Given the description of an element on the screen output the (x, y) to click on. 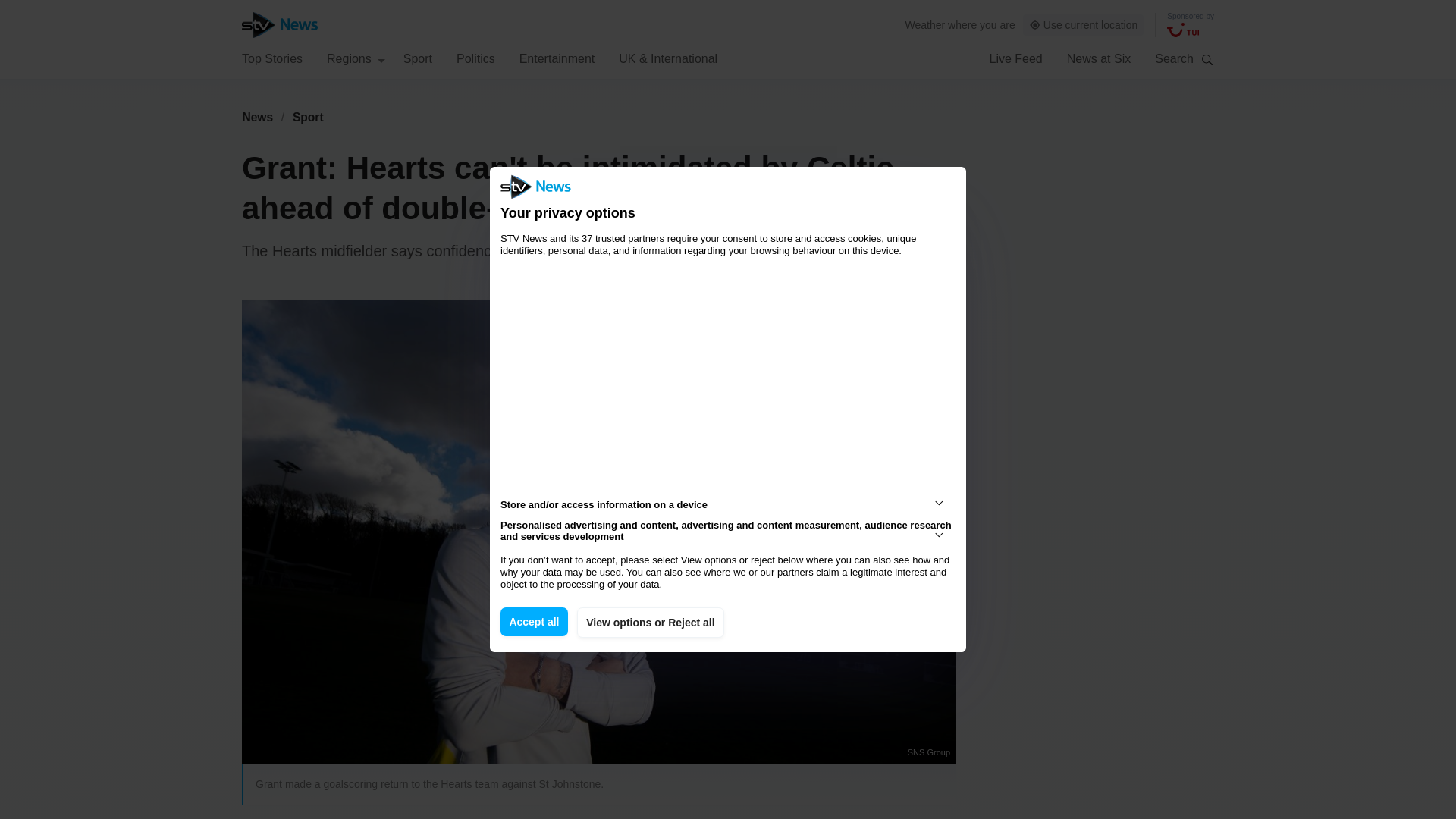
Entertainment (557, 57)
Use current location (1083, 25)
Politics (476, 57)
Top Stories (271, 57)
Weather (924, 24)
Search (1206, 59)
Sport (308, 116)
News at Six (1099, 57)
Regions (355, 57)
